Given the description of an element on the screen output the (x, y) to click on. 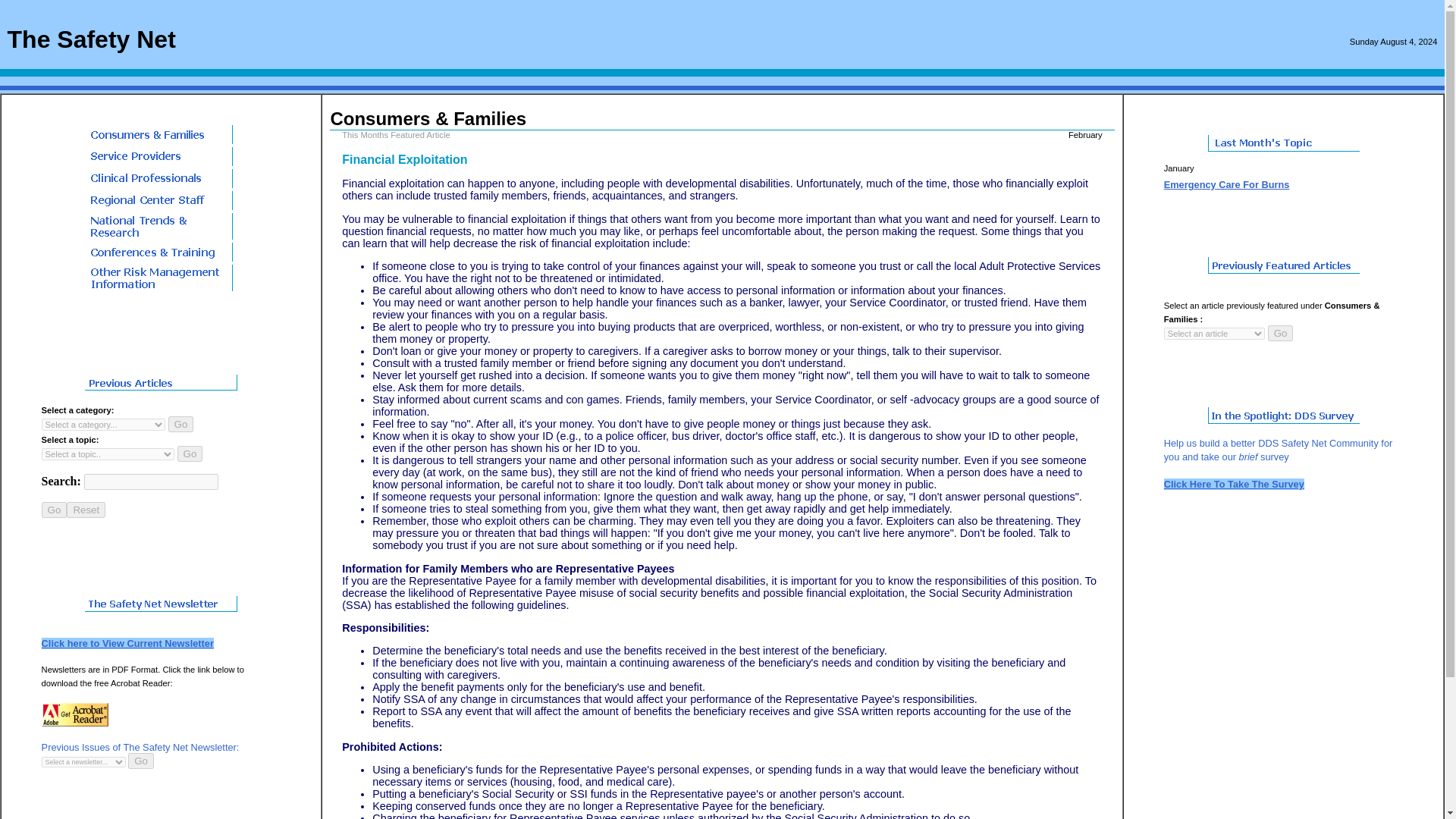
Go (54, 509)
Emergency Care For Burns (1226, 184)
Reset (85, 509)
Go (54, 509)
Go (180, 423)
Go (190, 453)
Click here to View Current Newsletter (128, 643)
Click Here To Take The Survey (1233, 483)
Go (1281, 333)
Go (141, 760)
